Given the description of an element on the screen output the (x, y) to click on. 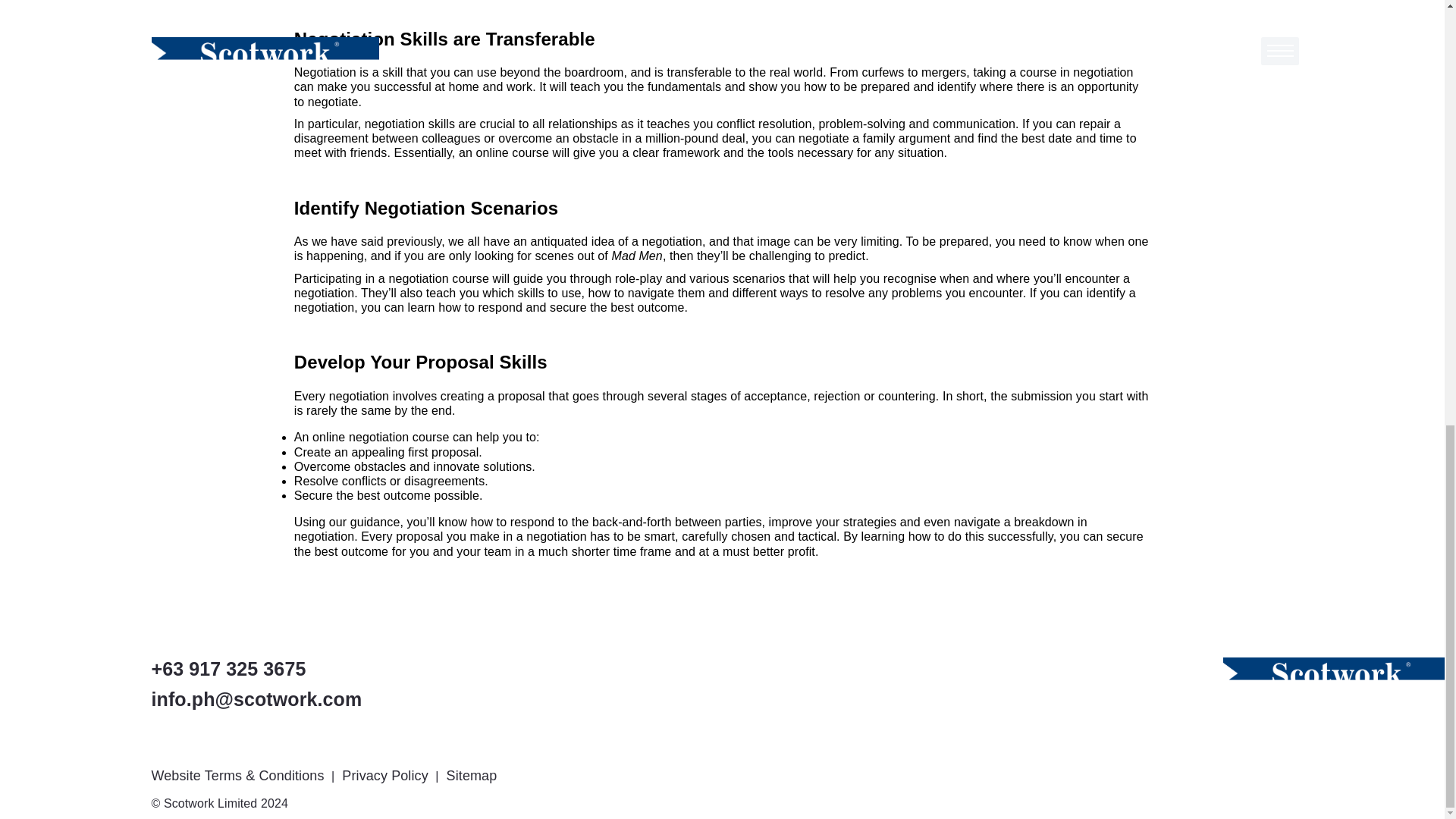
Privacy Policy (386, 775)
Sitemap (473, 775)
Sitemap (473, 775)
Privacy Policy (386, 775)
